Given the description of an element on the screen output the (x, y) to click on. 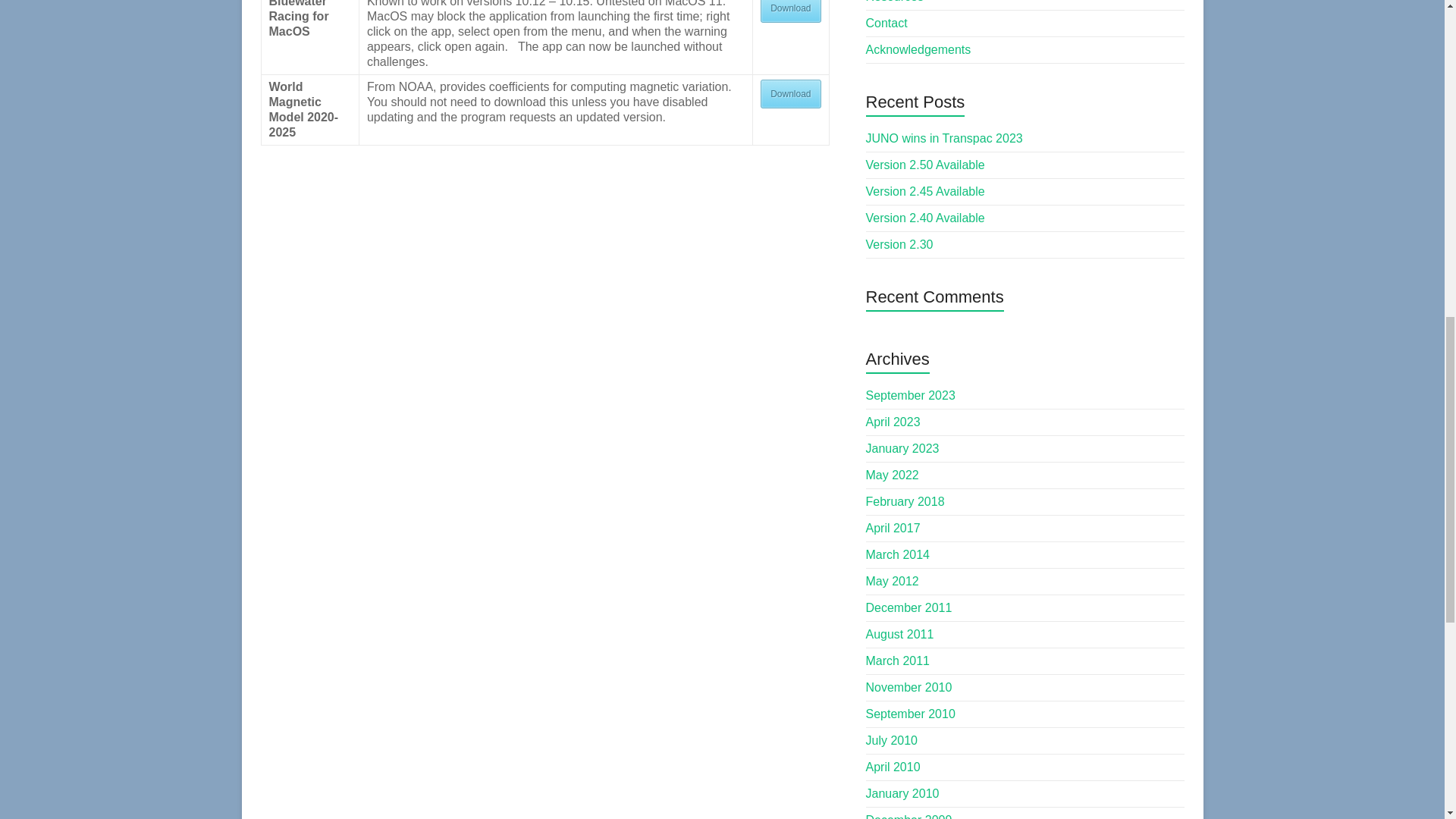
Contact (886, 22)
Acknowledgements (918, 49)
August 2011 (900, 634)
April 2010 (893, 766)
JUNO wins in Transpac 2023 (944, 137)
September 2010 (910, 713)
September 2023 (910, 395)
April 2023 (893, 421)
Version 2.45 Available (925, 191)
January 2023 (902, 448)
Download (790, 11)
November 2010 (909, 686)
Version 2.40 Available (925, 217)
April 2017 (893, 527)
Download (790, 93)
